Given the description of an element on the screen output the (x, y) to click on. 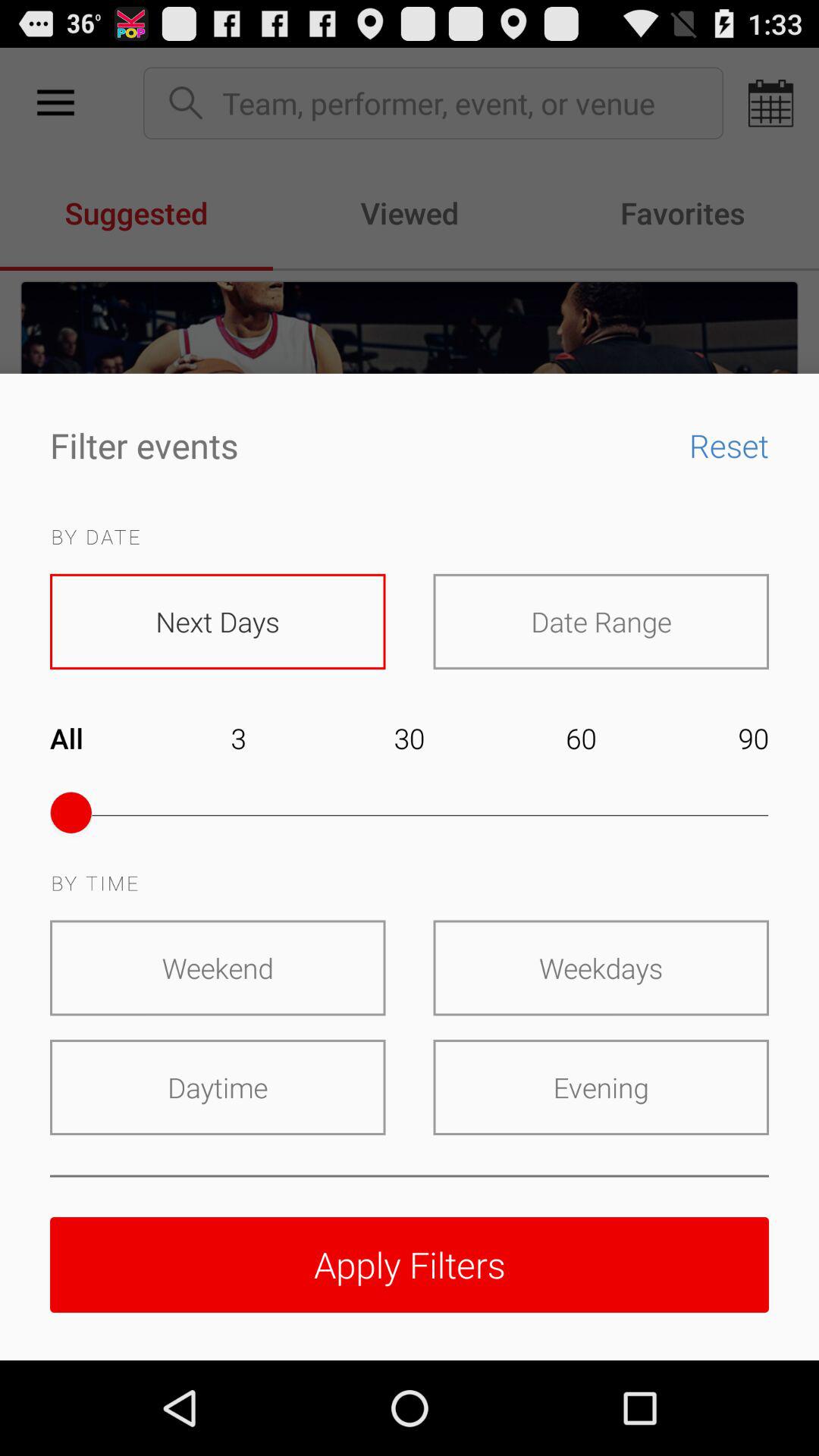
turn off the date range icon (600, 621)
